Given the description of an element on the screen output the (x, y) to click on. 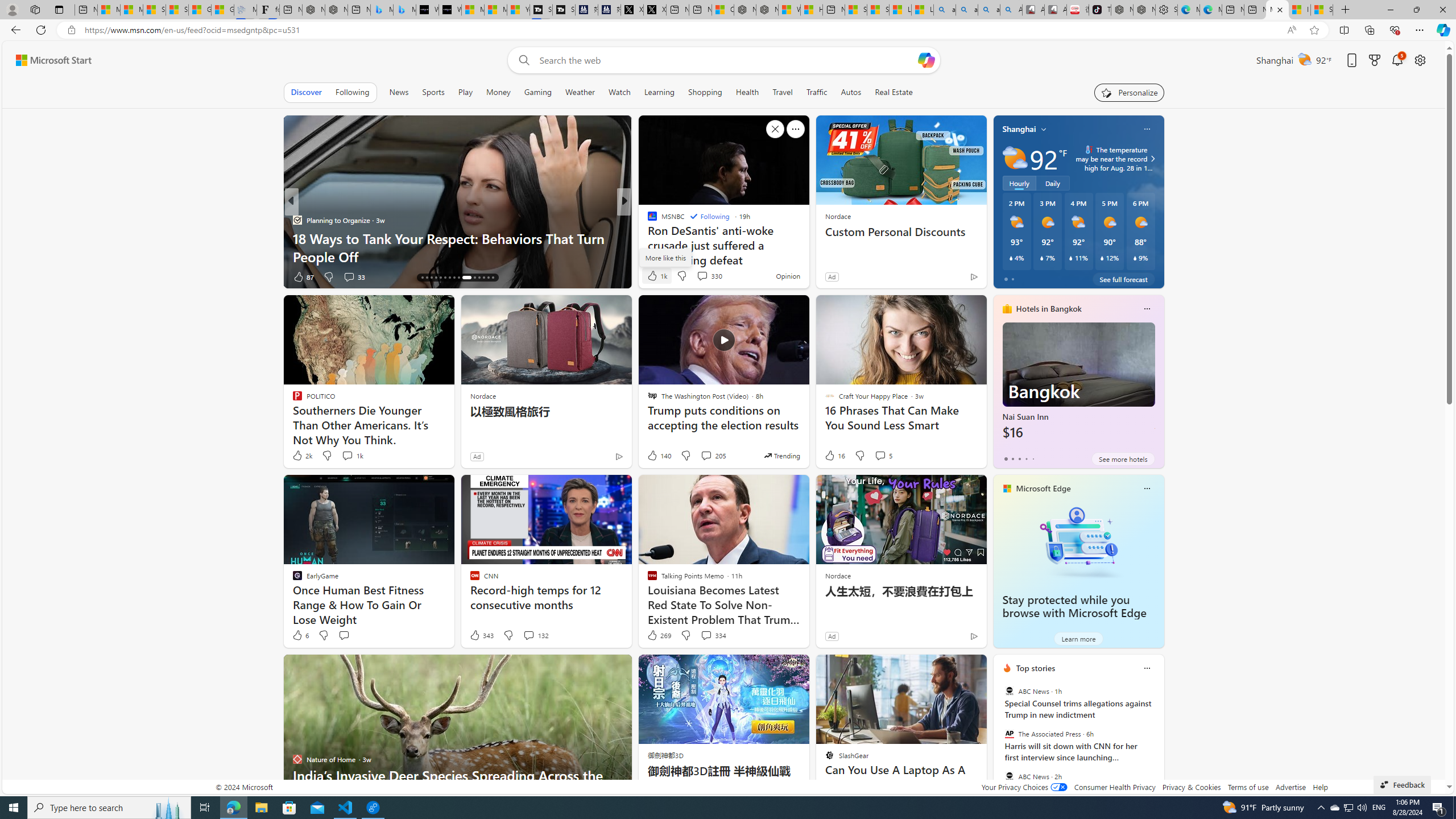
Hide this story (952, 668)
Nai Suan Inn (1077, 385)
Stay protected while you browse with Microsoft Edge (1077, 541)
Business Insider (647, 219)
Shopping (705, 92)
View comments 132 Comment (528, 635)
87 Like (303, 276)
Privacy & Cookies (1191, 786)
View comments 96 Comment (707, 276)
View comments 334 Comment (712, 634)
